Given the description of an element on the screen output the (x, y) to click on. 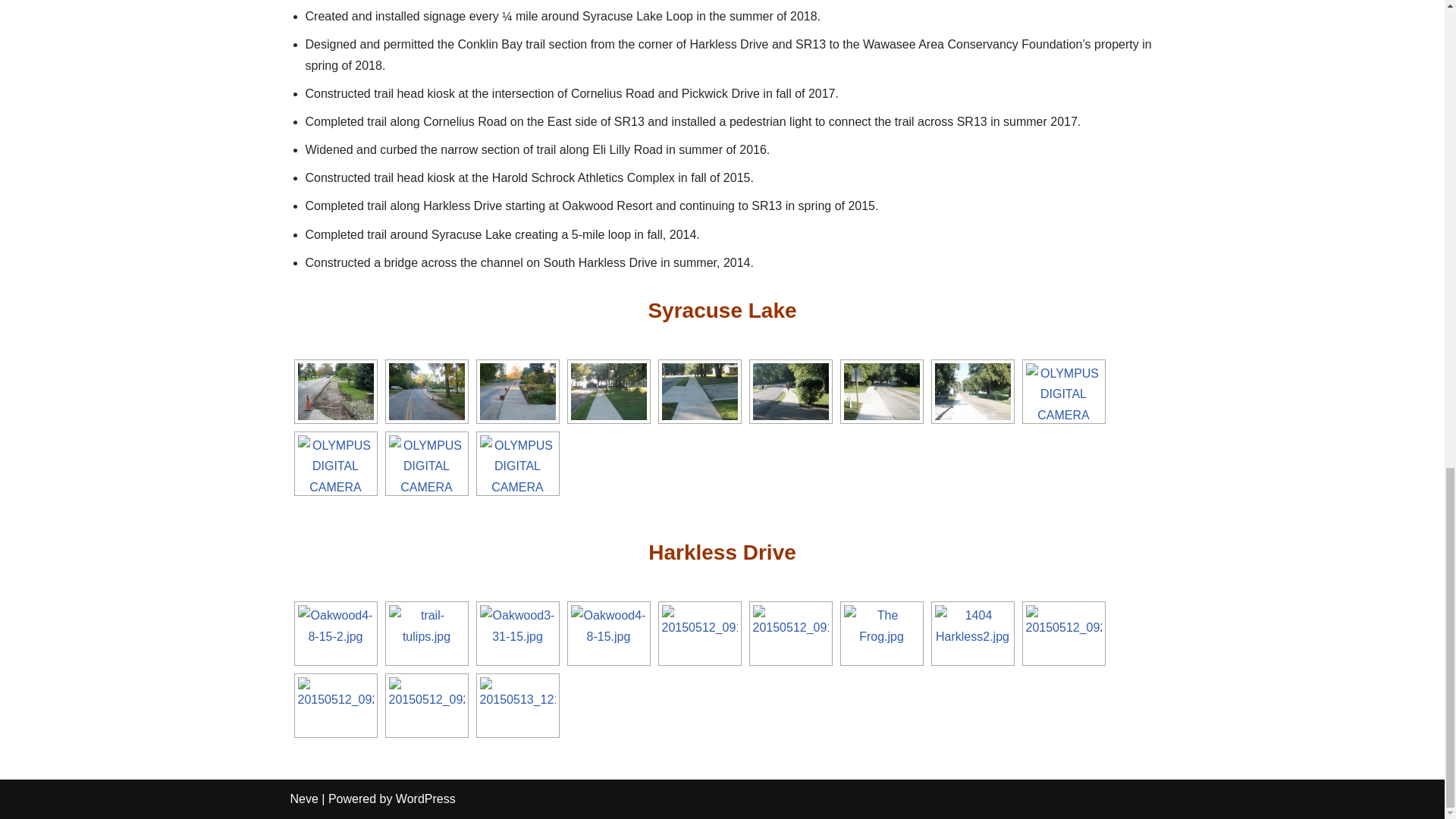
OLYMPUS DIGITAL CAMERA (790, 391)
syracuse-lake-1 (334, 391)
OLYMPUS DIGITAL CAMERA (698, 391)
OLYMPUS DIGITAL CAMERA (608, 391)
syracuse-lake-3 (516, 391)
syracuse-lake-2 (426, 391)
